Given the description of an element on the screen output the (x, y) to click on. 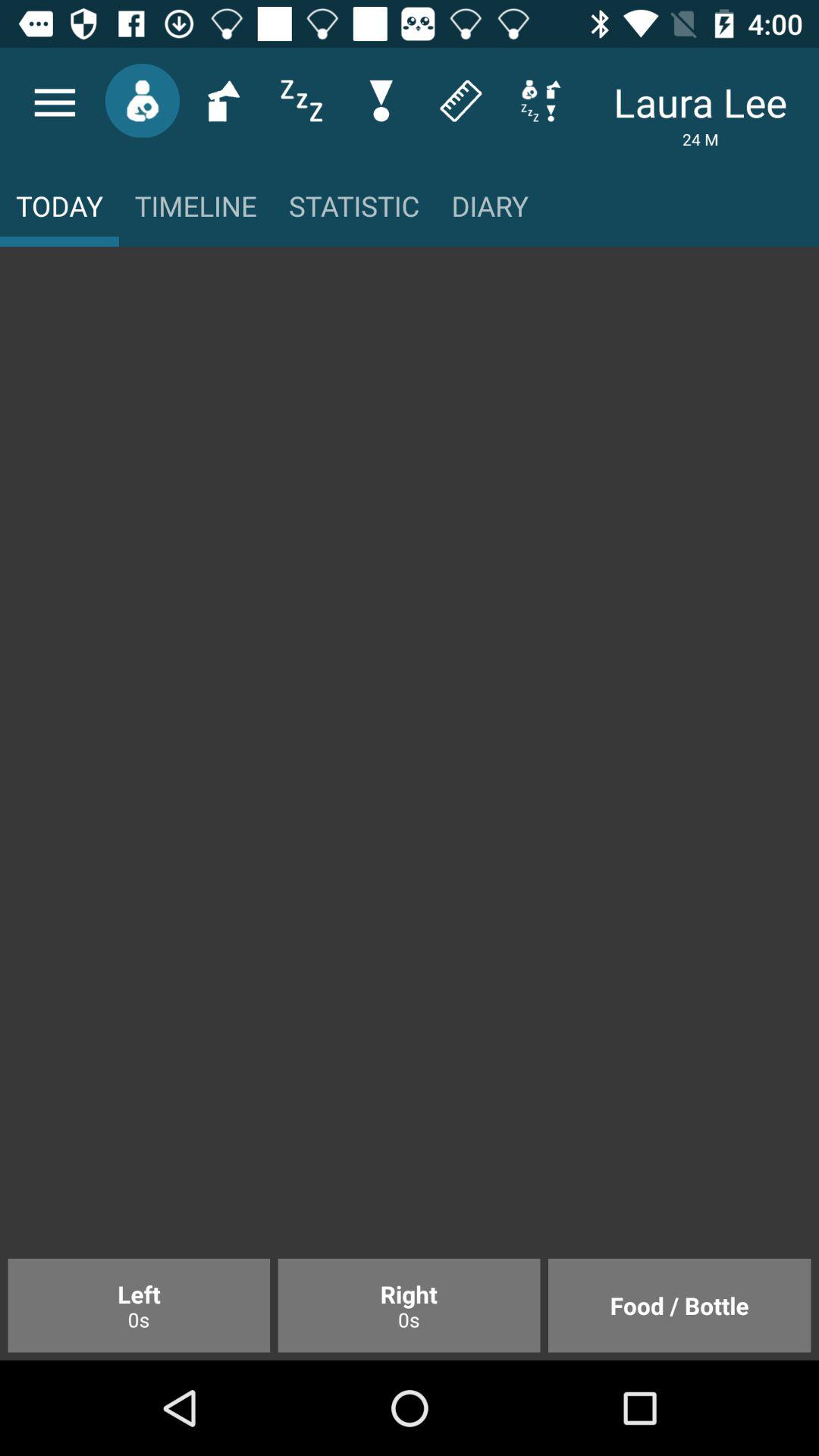
choose right
0s (409, 1305)
